Given the description of an element on the screen output the (x, y) to click on. 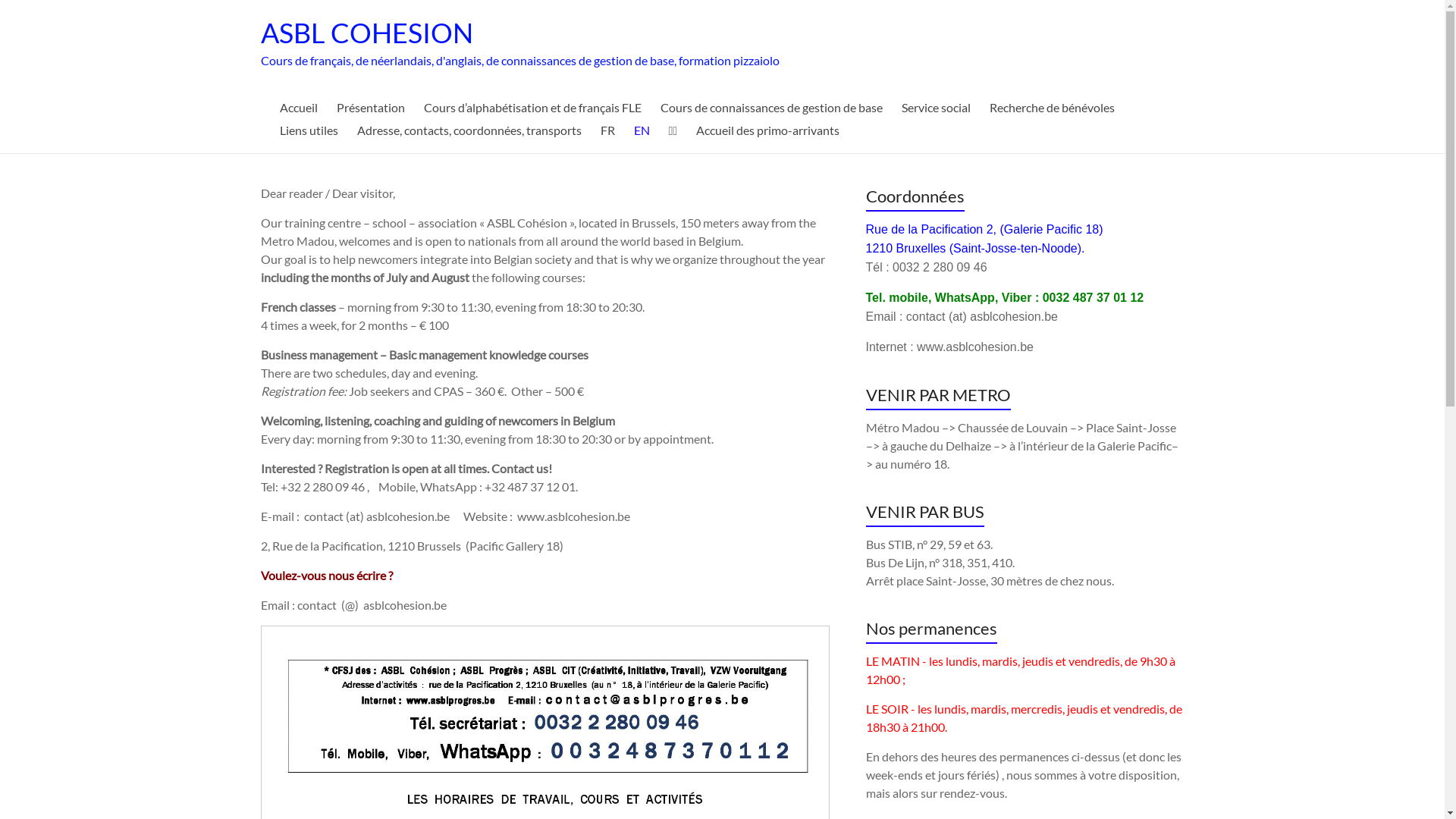
Accueil des primo-arrivants Element type: text (767, 130)
ASBL COHESION Element type: text (366, 32)
FR Element type: text (607, 130)
Cours de connaissances de gestion de base Element type: text (770, 107)
Rue de la Pacification 2, (Galerie Pacific 18) Element type: text (984, 228)
Liens utiles Element type: text (308, 130)
Accueil Element type: text (297, 107)
Service social Element type: text (934, 107)
EN Element type: text (641, 130)
1210 Bruxelles (Saint-Josse-ten-Noode). Element type: text (975, 247)
